Given the description of an element on the screen output the (x, y) to click on. 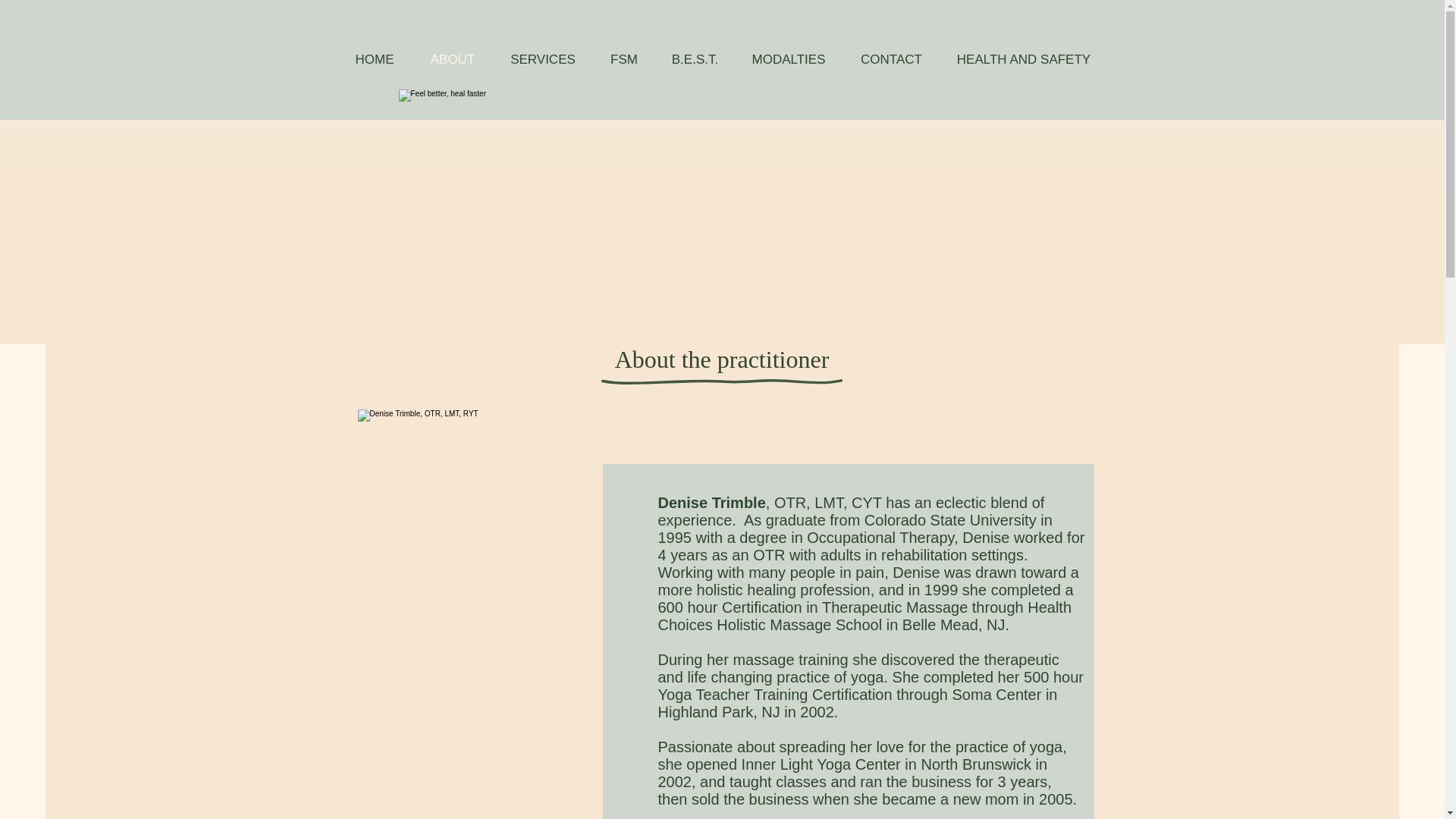
MODALTIES (788, 59)
HEALTH AND SAFETY (1024, 59)
